Given the description of an element on the screen output the (x, y) to click on. 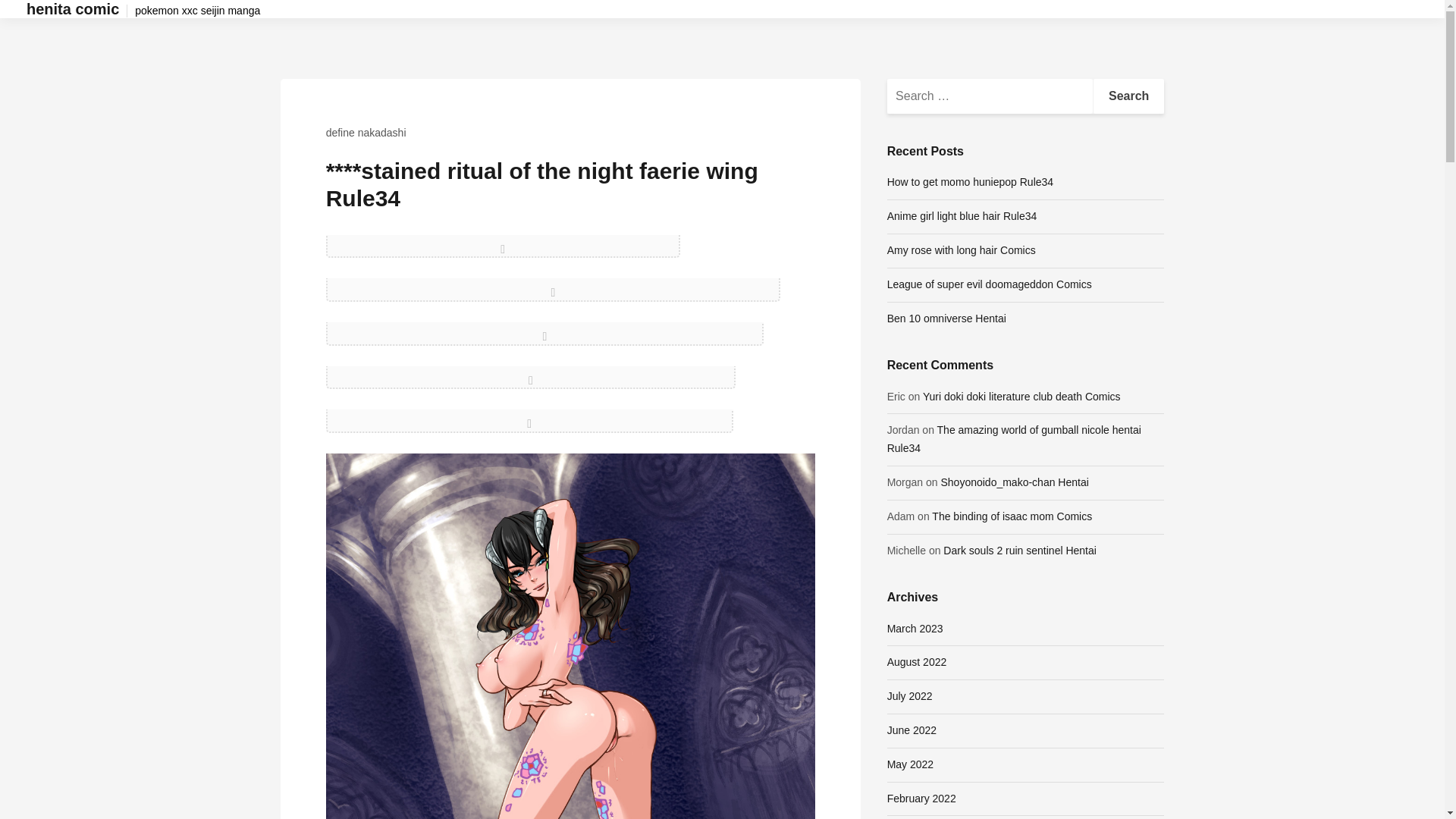
Dark souls 2 ruin sentinel Hentai (1019, 550)
Ben 10 omniverse Hentai (946, 318)
Search (1128, 95)
Anime girl light blue hair Rule34 (961, 215)
The amazing world of gumball nicole hentai Rule34 (1013, 439)
March 2023 (914, 628)
League of super evil doomageddon Comics (989, 284)
June 2022 (911, 729)
July 2022 (909, 695)
henita comic (72, 8)
